Given the description of an element on the screen output the (x, y) to click on. 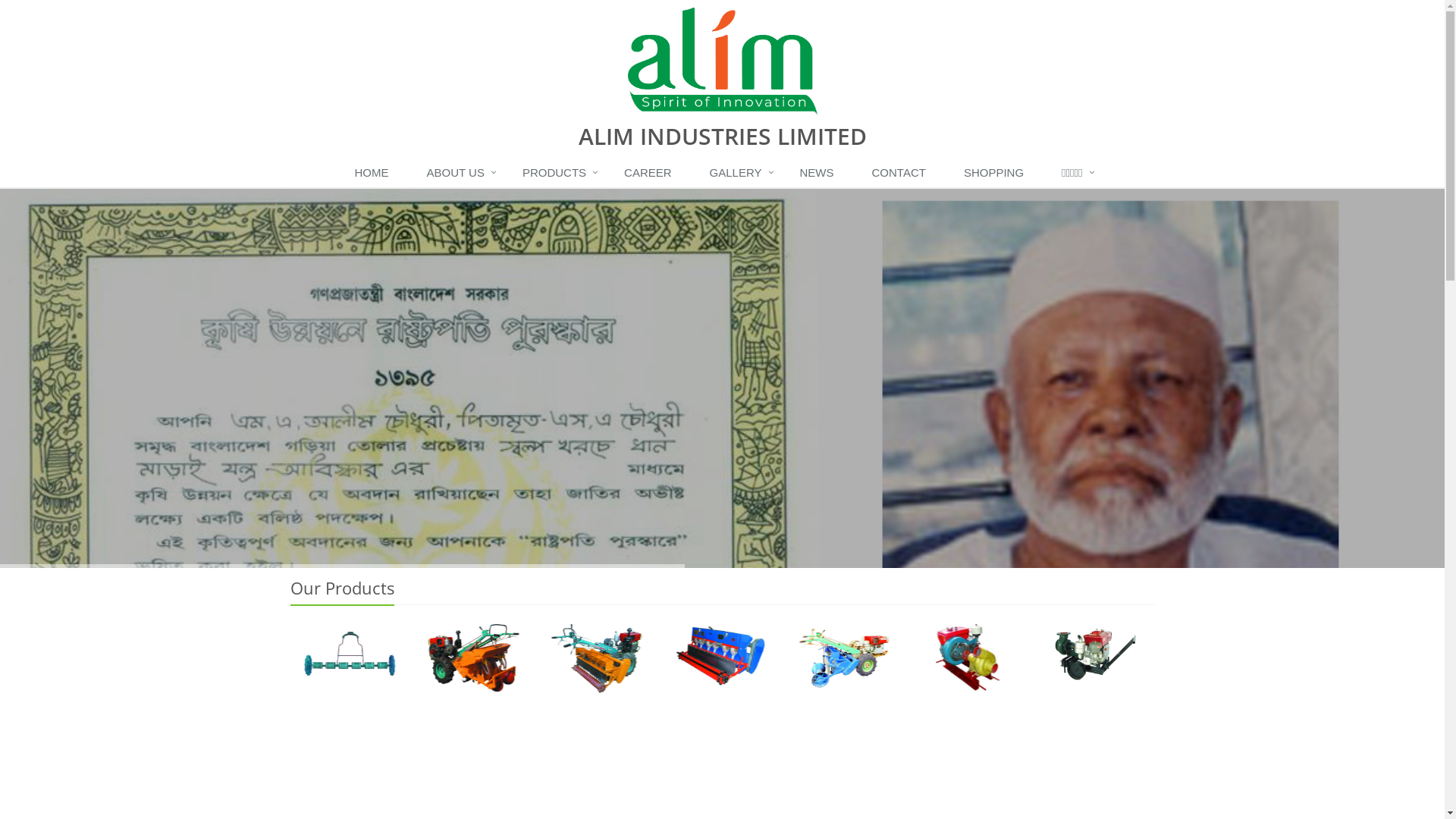
HOME Element type: text (374, 173)
PRODUCTS Element type: text (557, 173)
SHOPPING Element type: text (997, 173)
ALIM INDUSTRIES LIMITED Element type: text (721, 74)
CAREER Element type: text (651, 173)
CONTACT Element type: text (902, 173)
ABOUT US Element type: text (458, 173)
NEWS Element type: text (820, 173)
GALLERY Element type: text (739, 173)
